Given the description of an element on the screen output the (x, y) to click on. 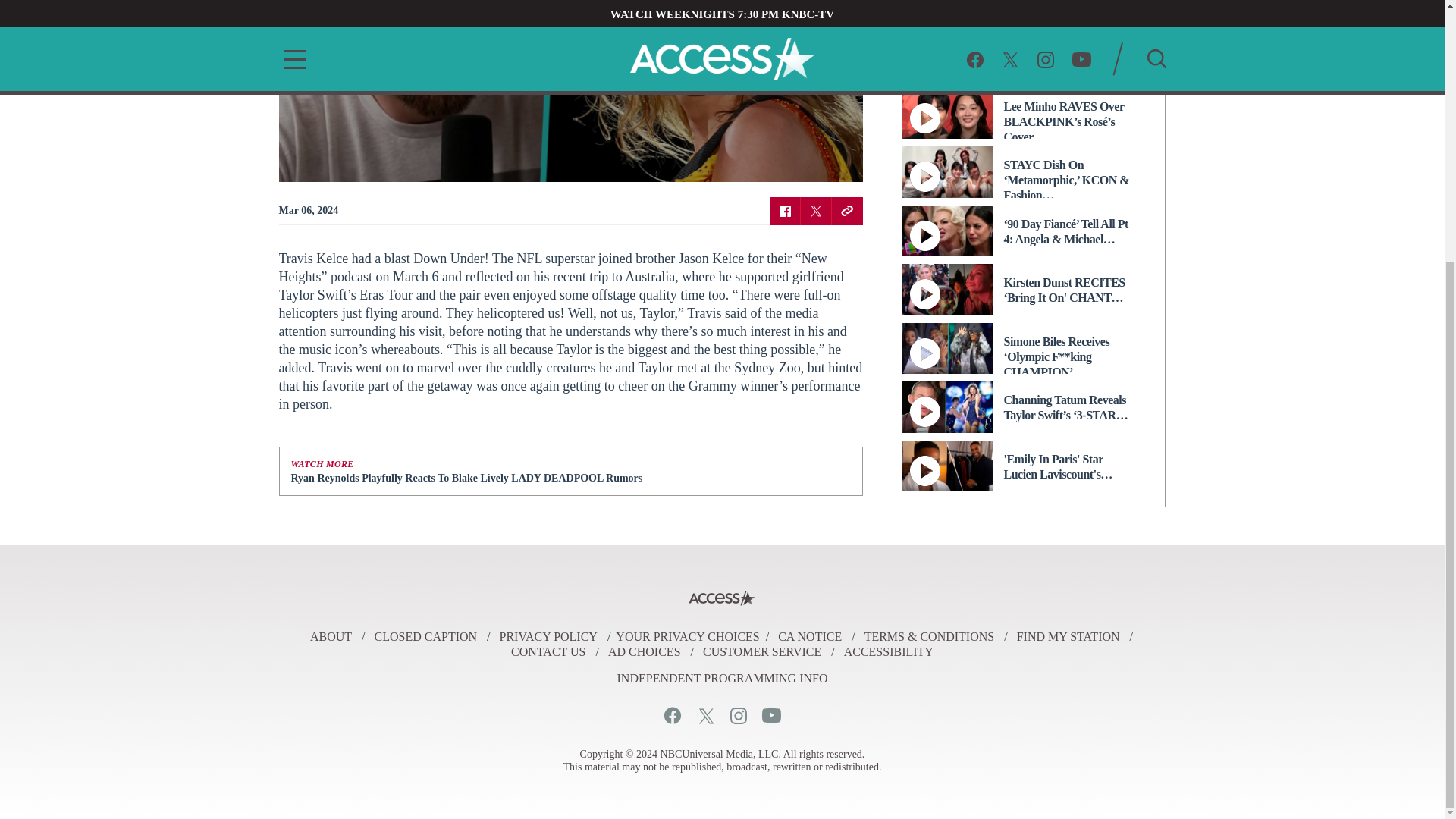
Instagram (737, 714)
Facebook (671, 714)
Facebook (783, 210)
Twitter (704, 714)
Copy URL (846, 210)
Youtube (770, 714)
Twitter (815, 210)
